Given the description of an element on the screen output the (x, y) to click on. 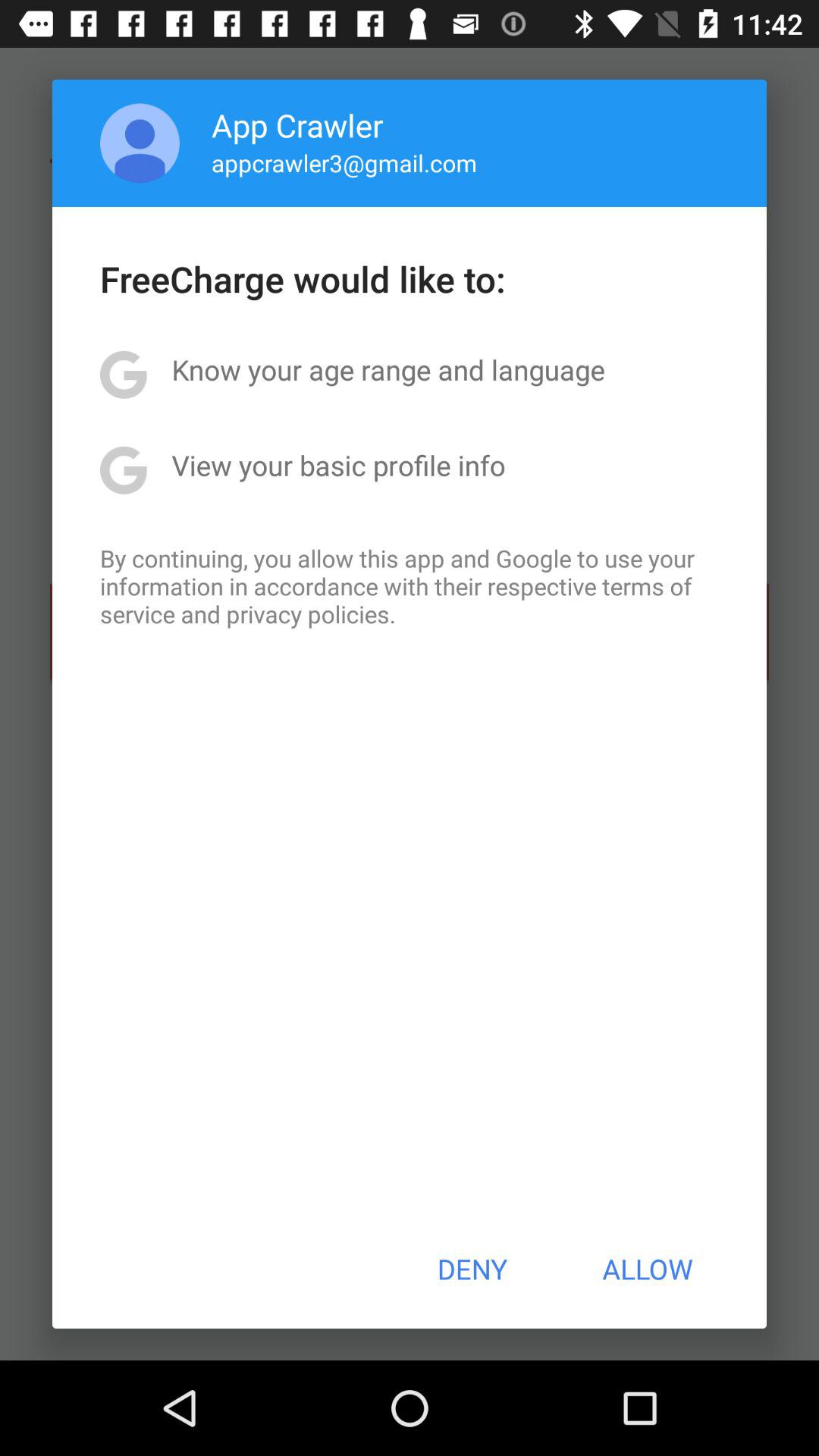
select app next to the app crawler (139, 143)
